Given the description of an element on the screen output the (x, y) to click on. 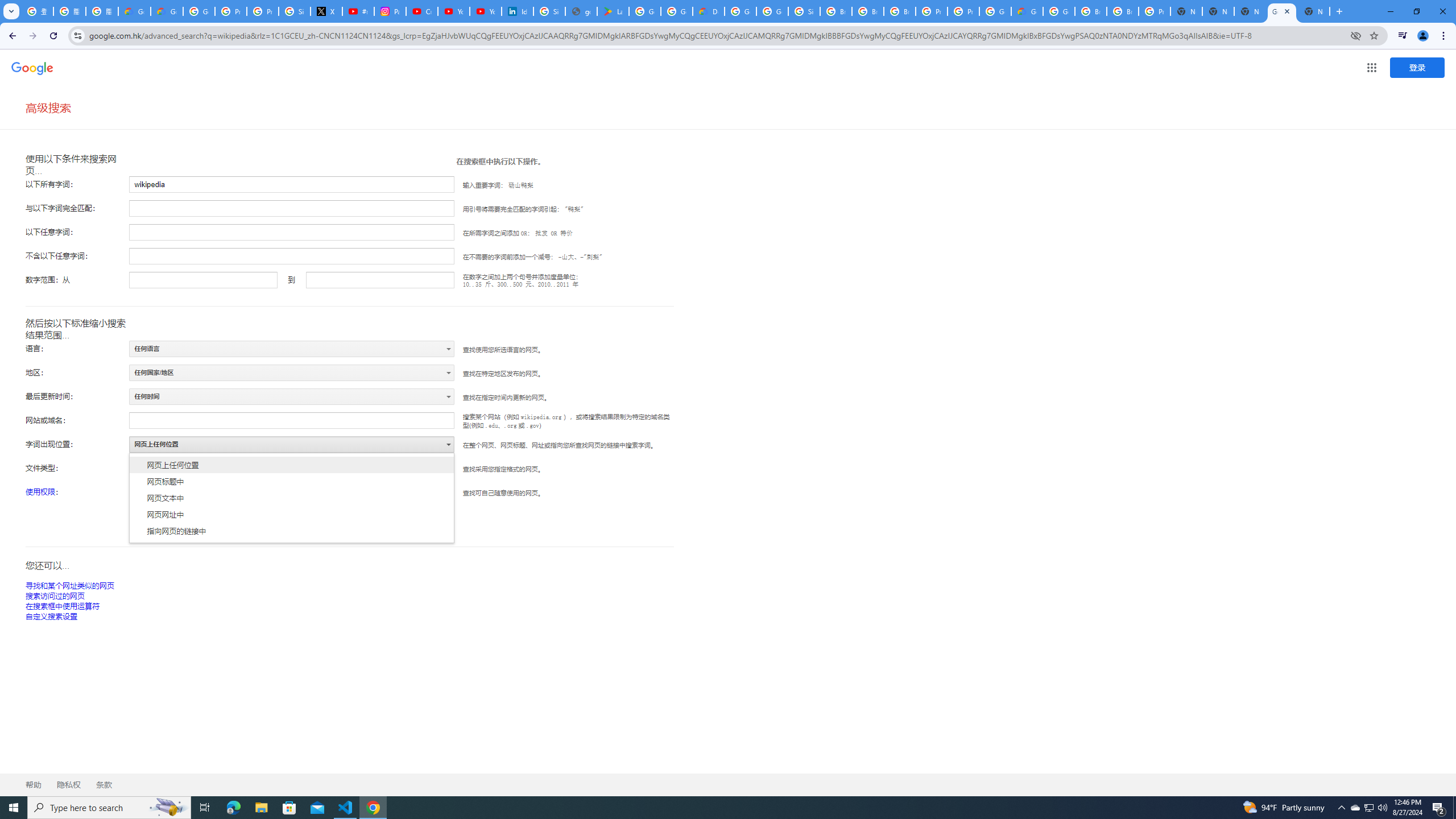
#nbabasketballhighlights - YouTube (358, 11)
Control your music, videos, and more (1402, 35)
X (326, 11)
Google Cloud Privacy Notice (134, 11)
Google Cloud Platform (995, 11)
